Given the description of an element on the screen output the (x, y) to click on. 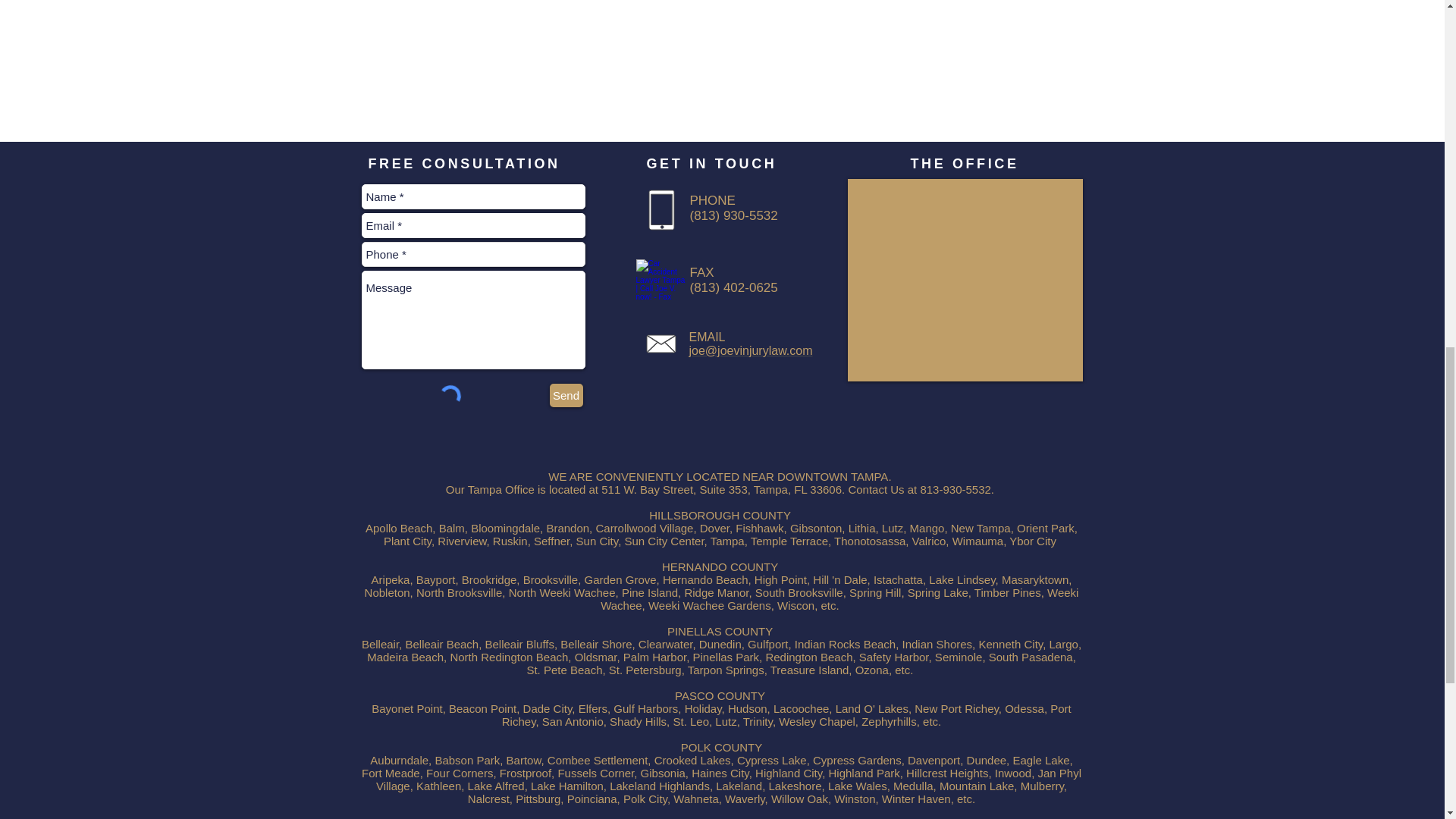
Send (565, 395)
